Given the description of an element on the screen output the (x, y) to click on. 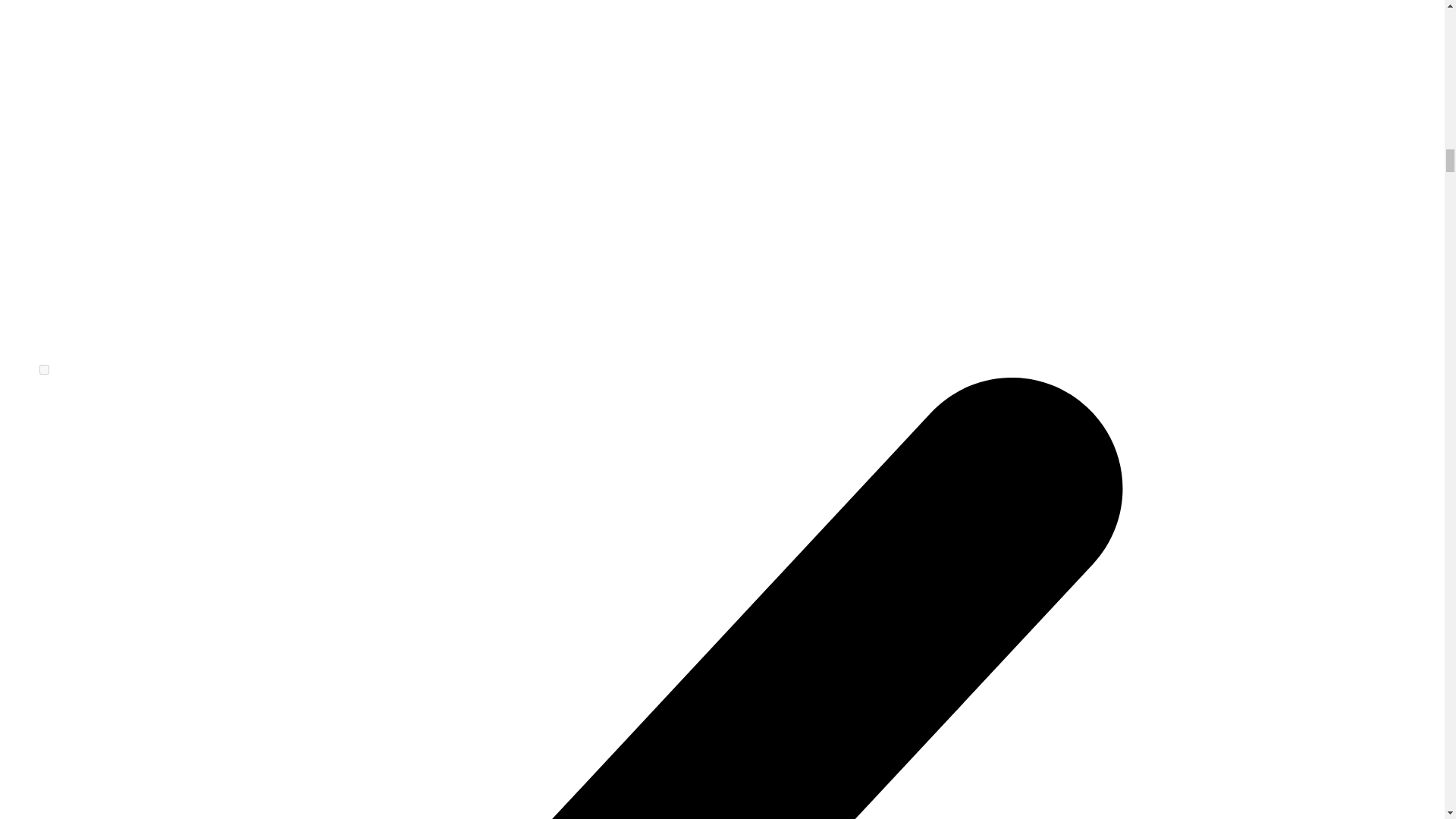
on (44, 369)
